Given the description of an element on the screen output the (x, y) to click on. 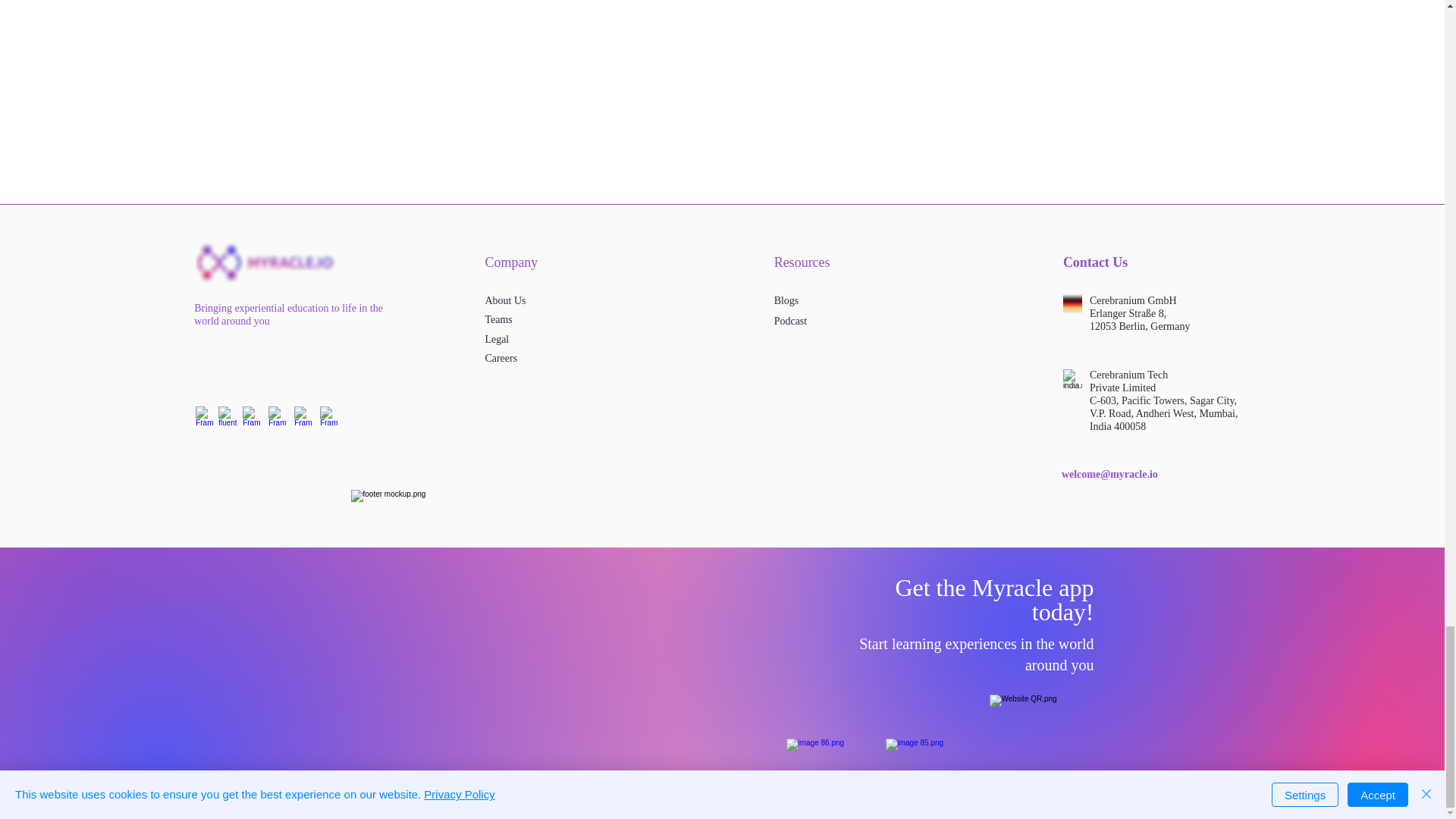
Careers (500, 357)
Blogs (786, 300)
About Us (504, 300)
Teams (498, 318)
Legal (496, 338)
